Given the description of an element on the screen output the (x, y) to click on. 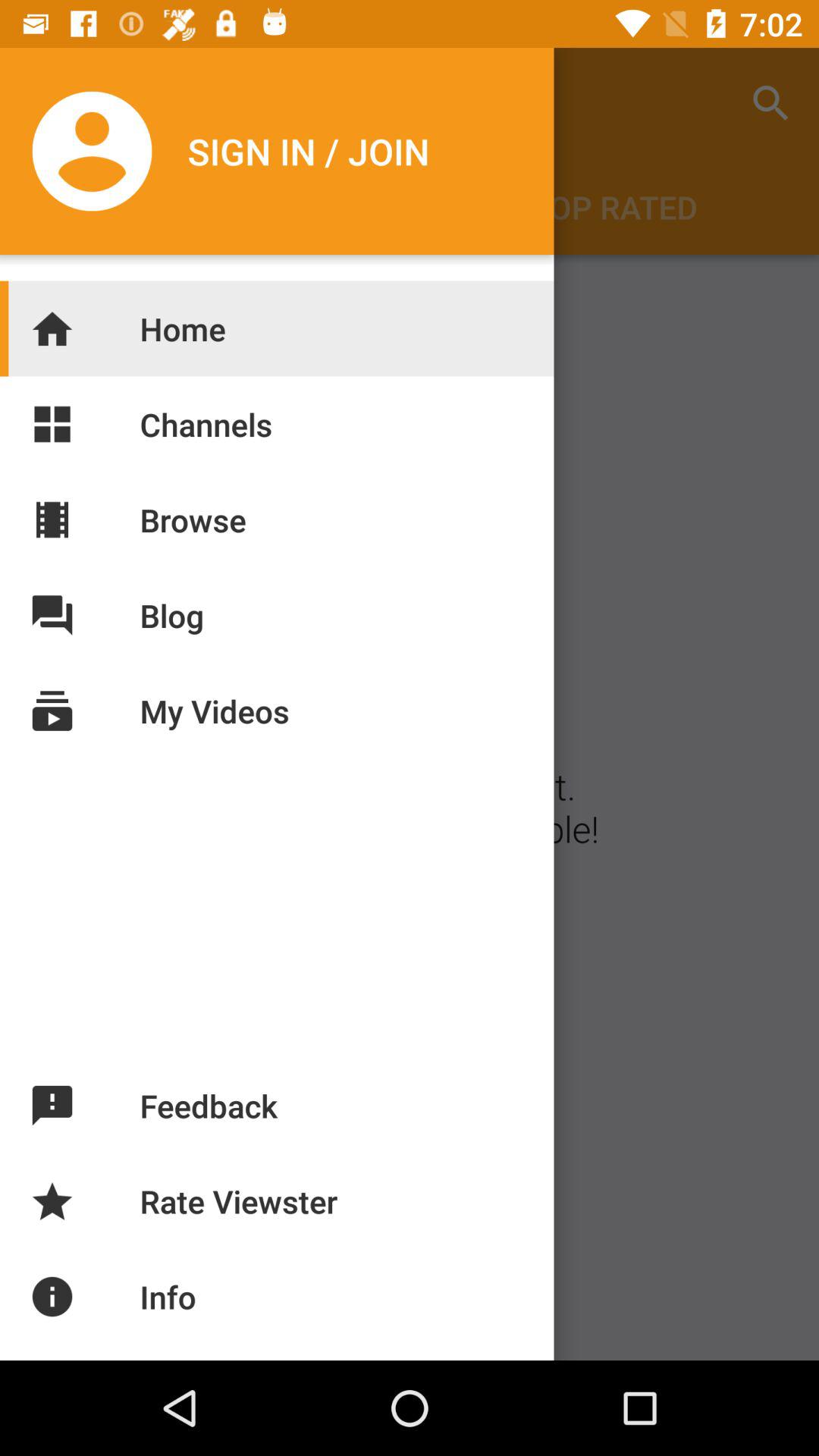
go to left of sign injoin (95, 151)
